Given the description of an element on the screen output the (x, y) to click on. 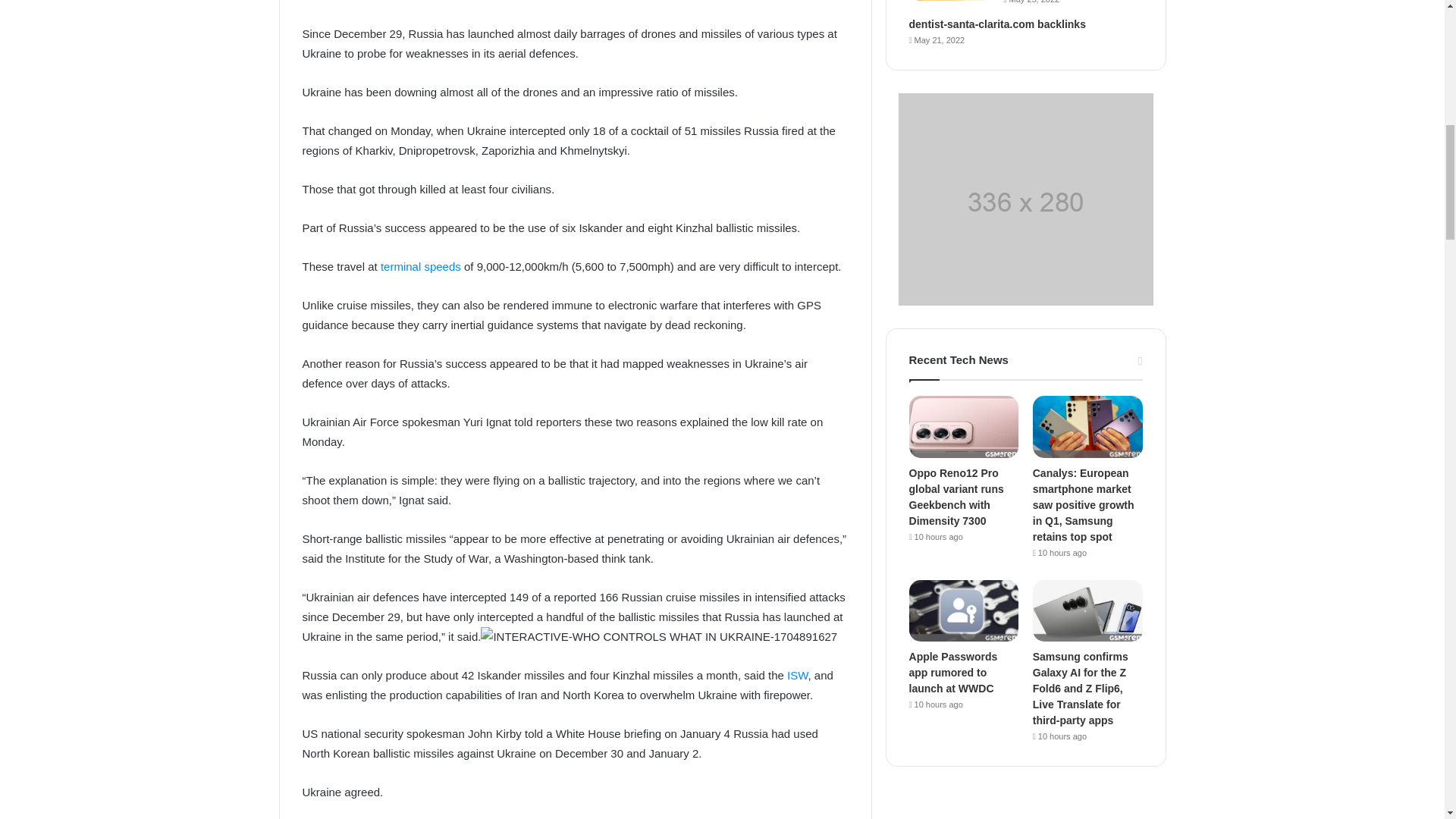
terminal speeds (420, 266)
ISW (797, 675)
